Given the description of an element on the screen output the (x, y) to click on. 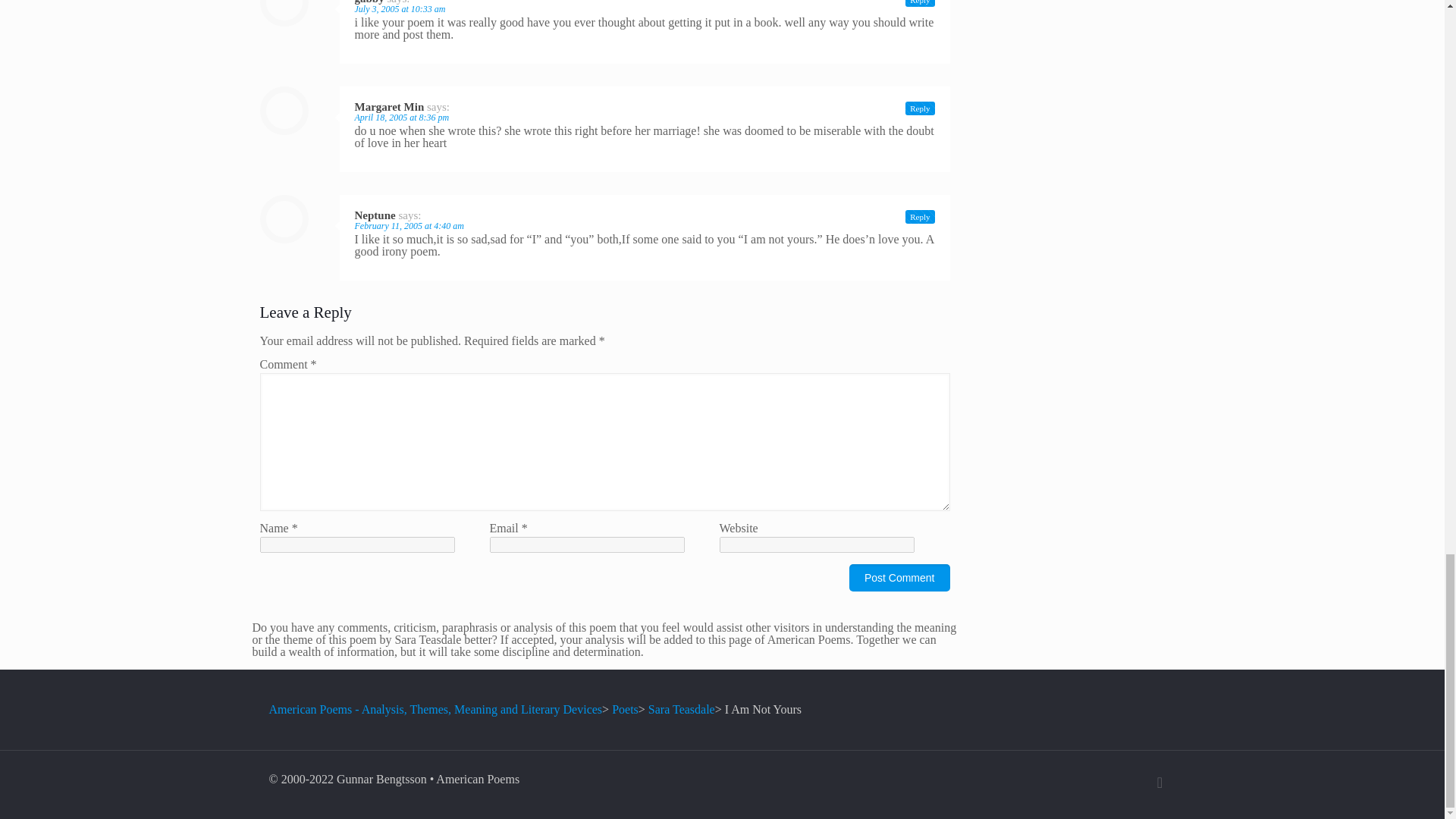
Reply (919, 3)
February 11, 2005 at 4:40 am (409, 225)
Post Comment (899, 577)
Post Comment (899, 577)
April 18, 2005 at 8:36 pm (402, 117)
Reply (919, 216)
Go to Sara Teasdale. (680, 708)
Poets (625, 708)
Sara Teasdale (680, 708)
Go to Poets. (625, 708)
July 3, 2005 at 10:33 am (400, 9)
Reply (919, 108)
